Given the description of an element on the screen output the (x, y) to click on. 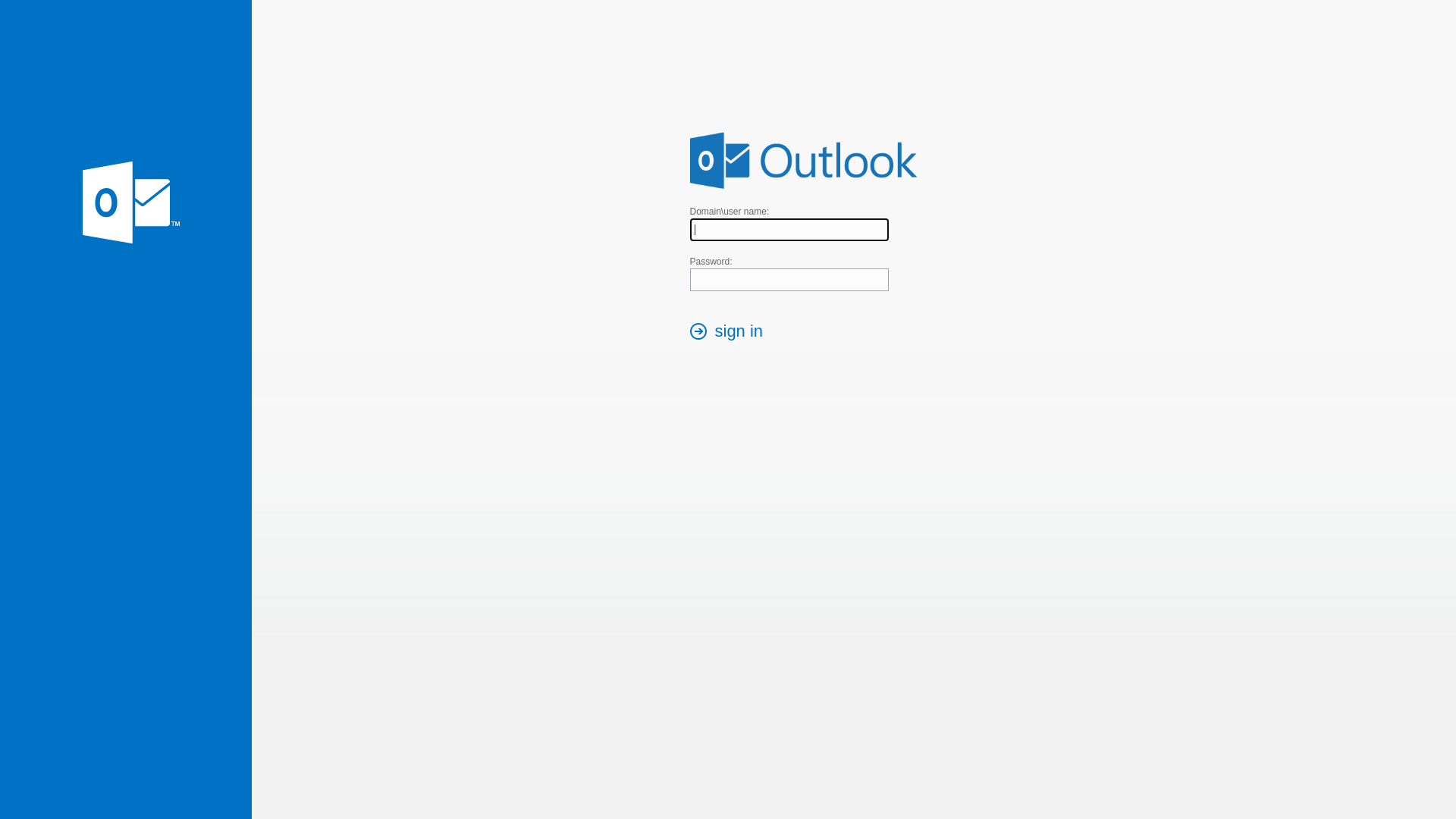
sign in Element type: text (731, 332)
